Given the description of an element on the screen output the (x, y) to click on. 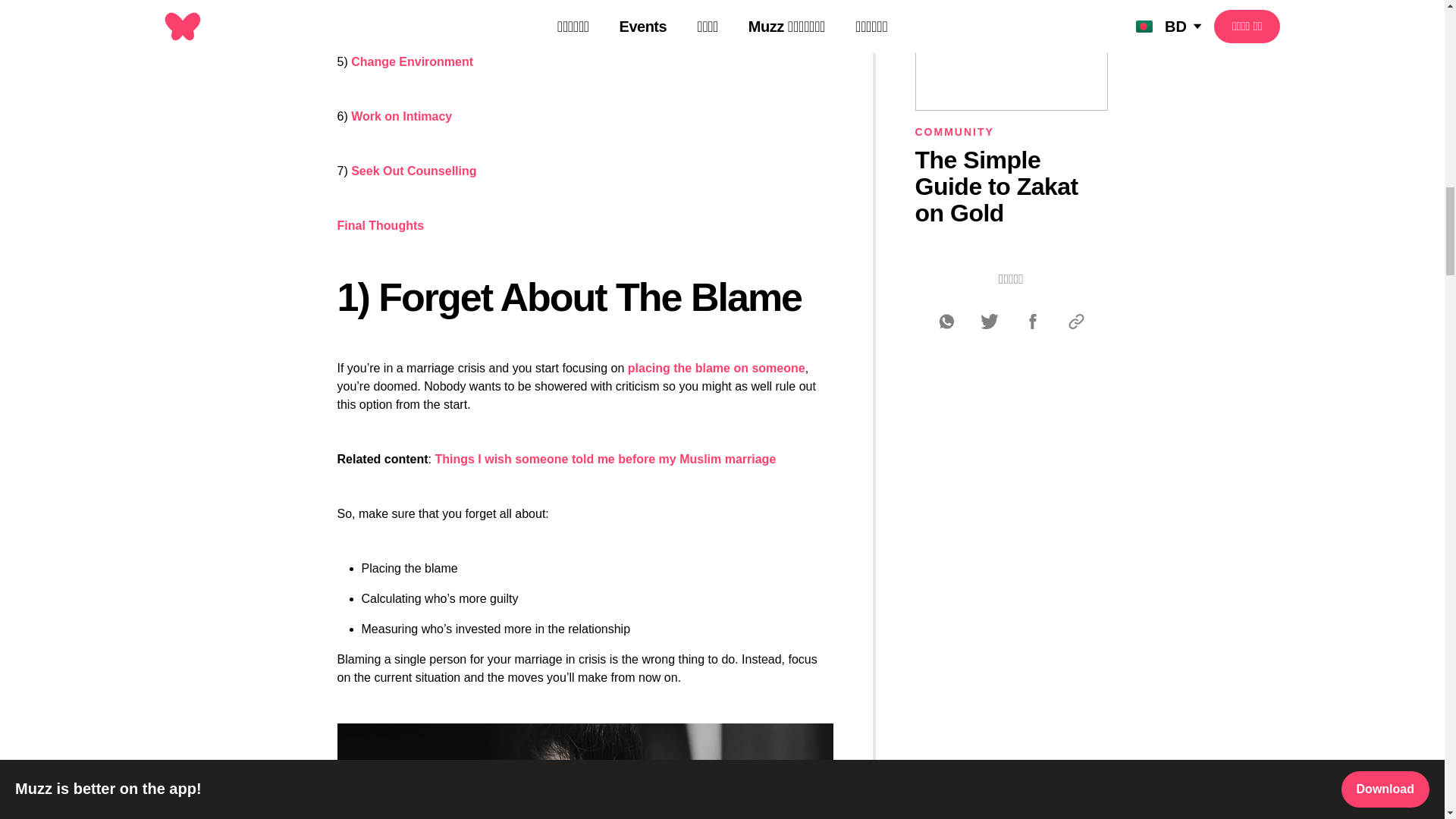
Seek Out Counselling (413, 170)
Work on Intimacy (399, 115)
Things I wish someone told me before my Muslim marriage (604, 459)
Final Thoughts (379, 225)
Provide Space (391, 6)
placing the blame on someone (716, 367)
Change Environment (411, 61)
